Given the description of an element on the screen output the (x, y) to click on. 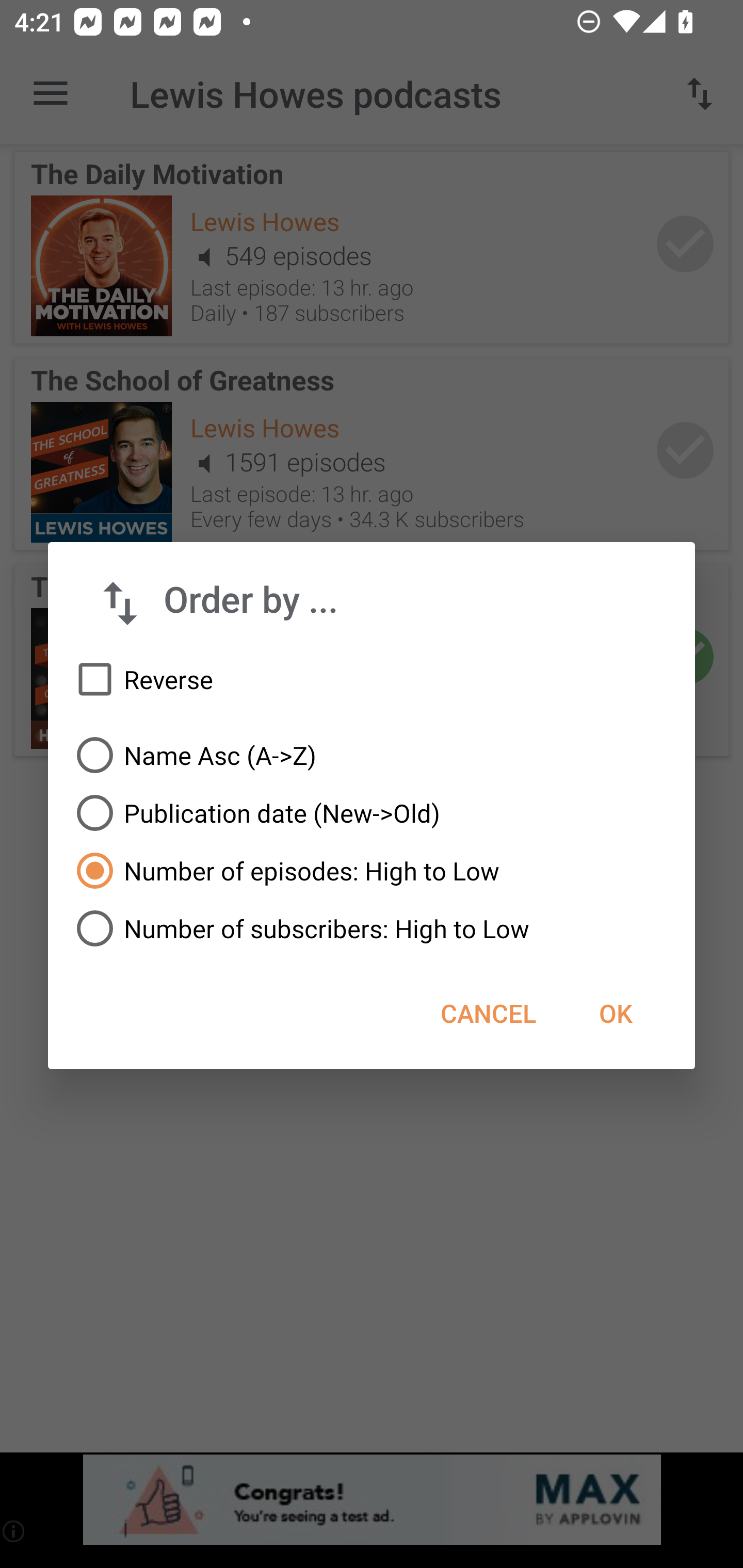
Reverse (371, 679)
Name Asc (A->Z) (371, 754)
Publication date (New->Old) (371, 813)
Number of episodes: High to Low (371, 871)
Number of subscribers: High to Low (371, 929)
CANCEL (488, 1012)
OK (615, 1012)
